Given the description of an element on the screen output the (x, y) to click on. 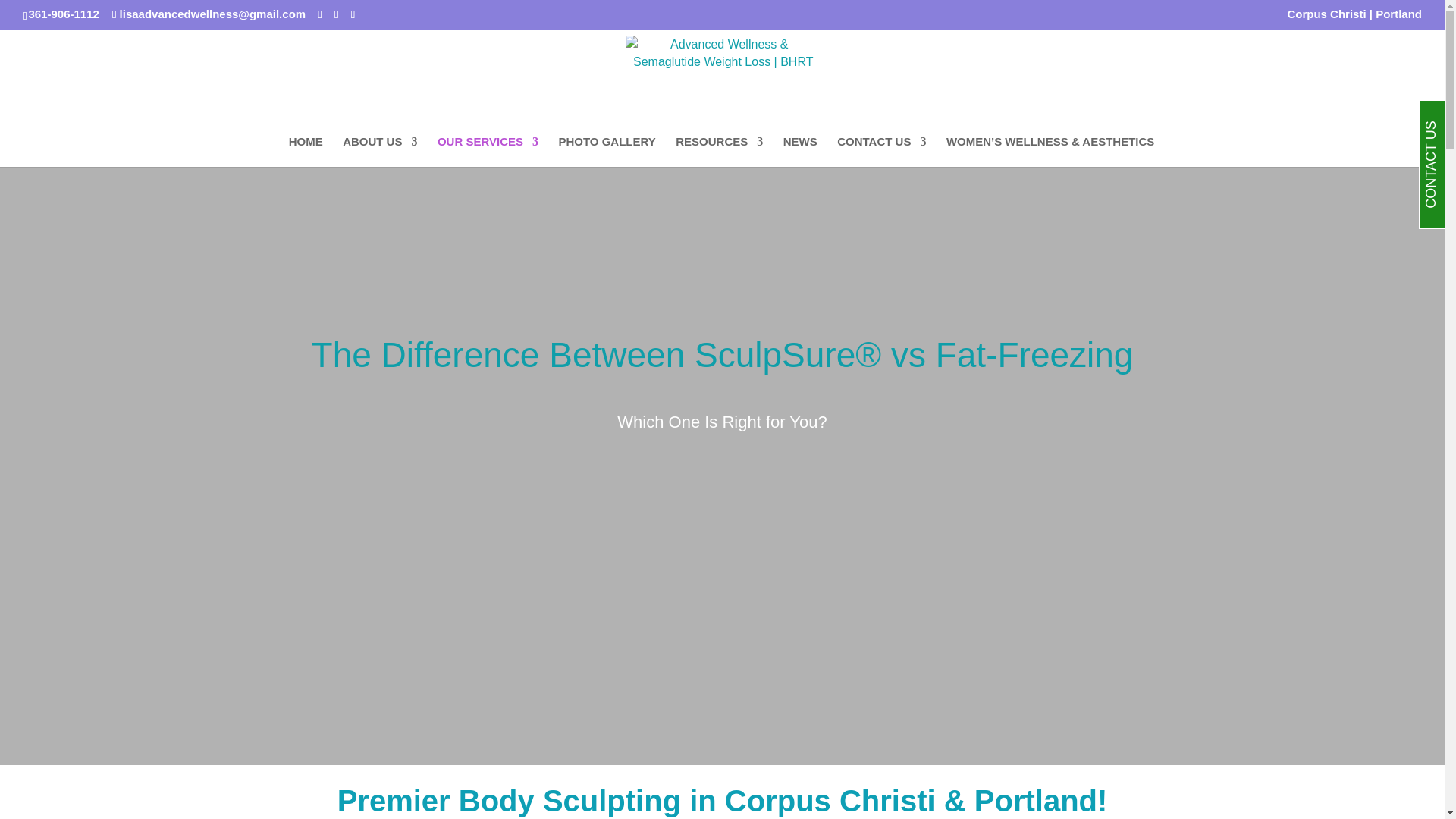
PHOTO GALLERY (606, 151)
OUR SERVICES (488, 151)
RESOURCES (718, 151)
HOME (305, 151)
ABOUT US (379, 151)
